Given the description of an element on the screen output the (x, y) to click on. 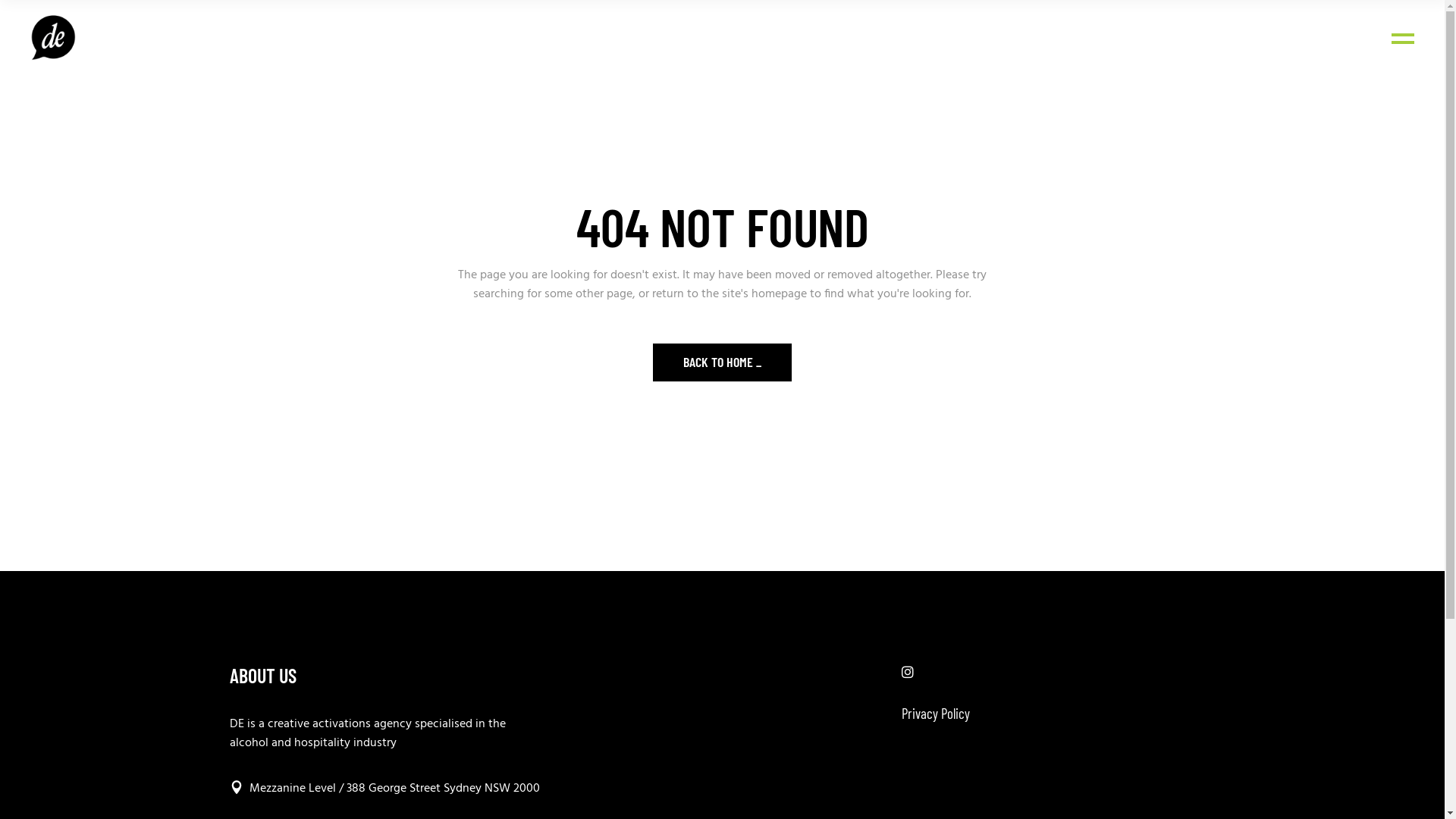
Privacy Policy Element type: text (935, 712)
BACK TO HOME _ Element type: text (721, 362)
Mezzanine Level / 388 George Street Sydney NSW 2000 Element type: text (384, 786)
